Given the description of an element on the screen output the (x, y) to click on. 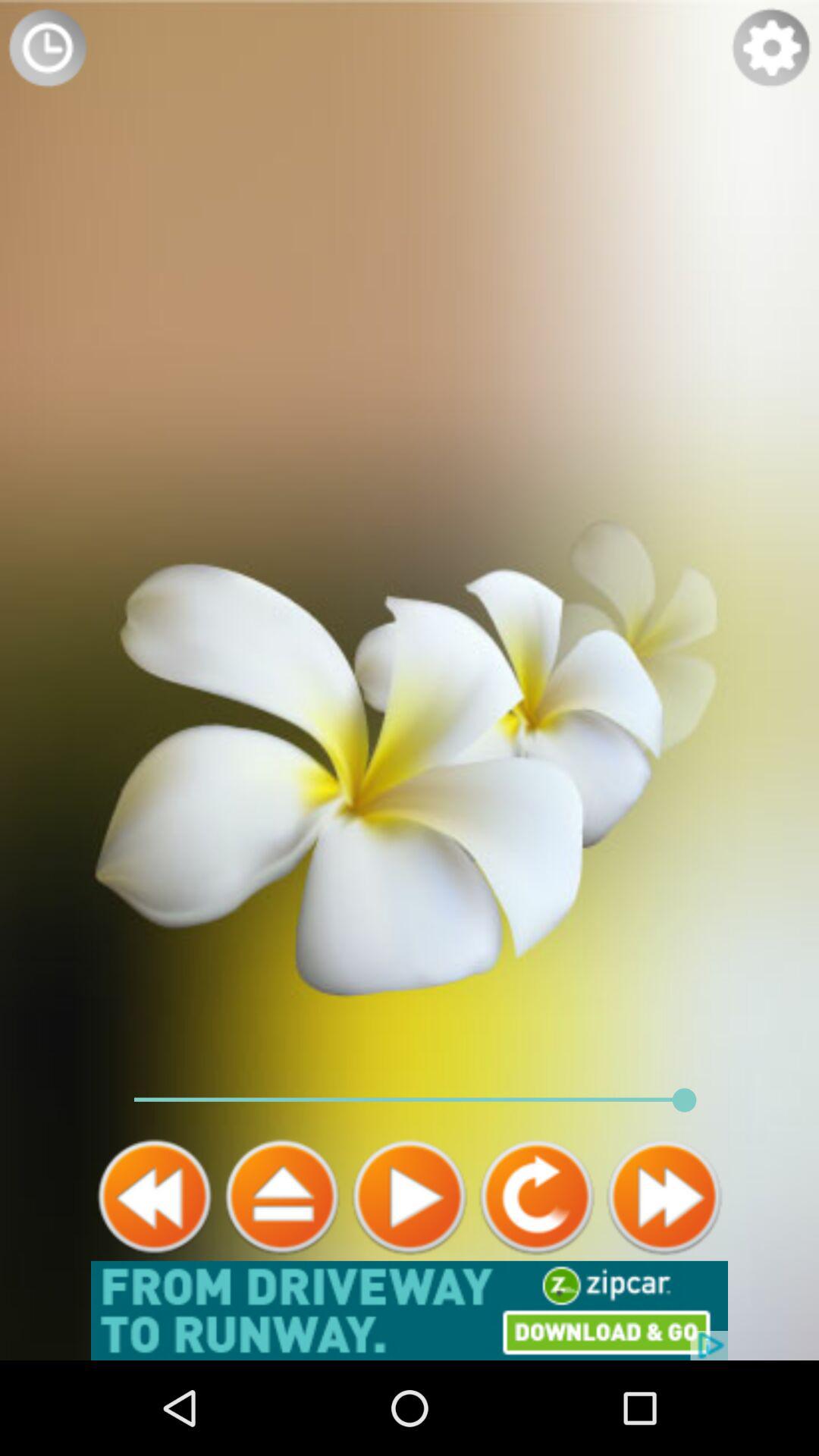
go to previous (154, 1196)
